Given the description of an element on the screen output the (x, y) to click on. 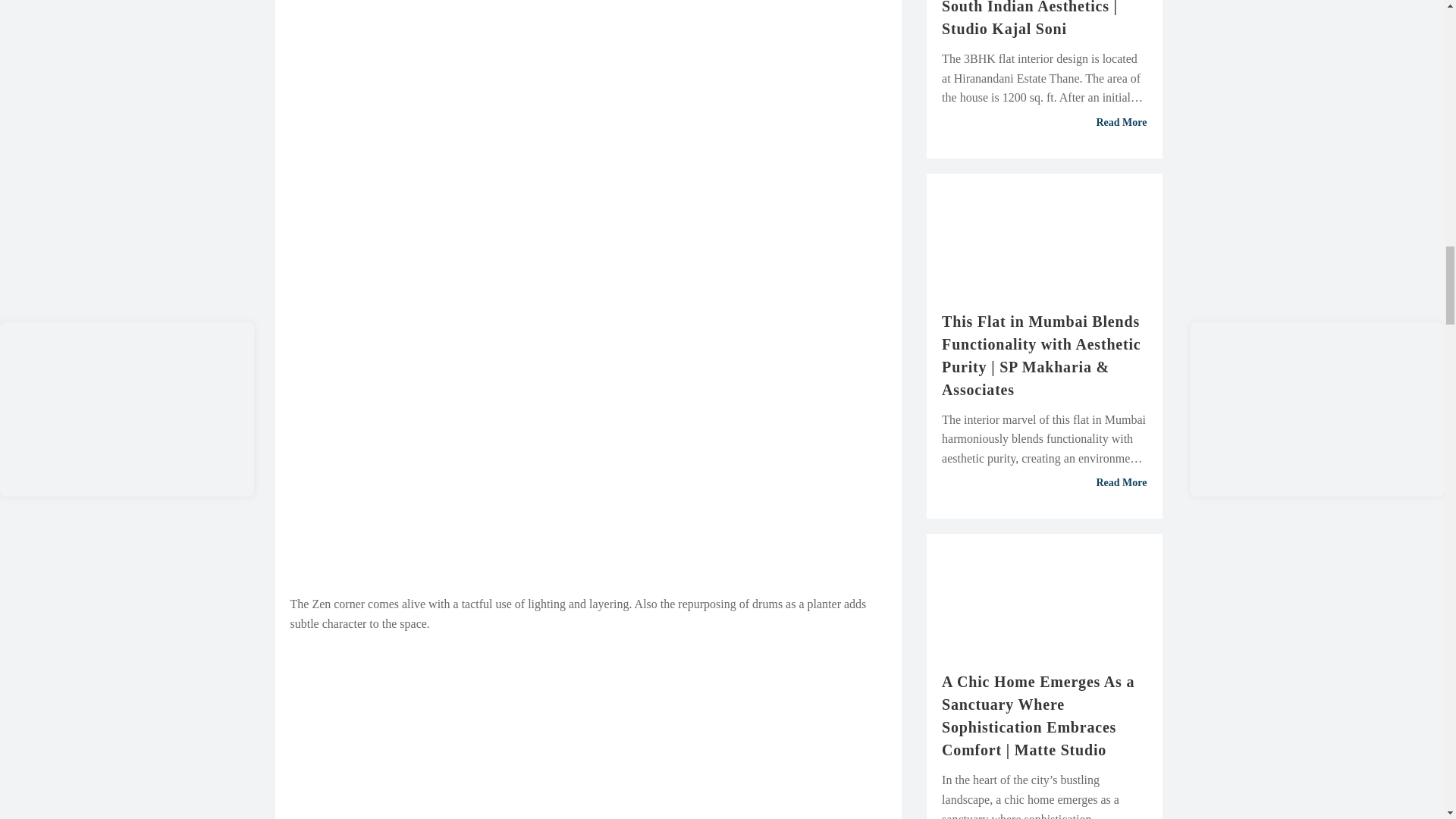
Read More (1044, 122)
